Given the description of an element on the screen output the (x, y) to click on. 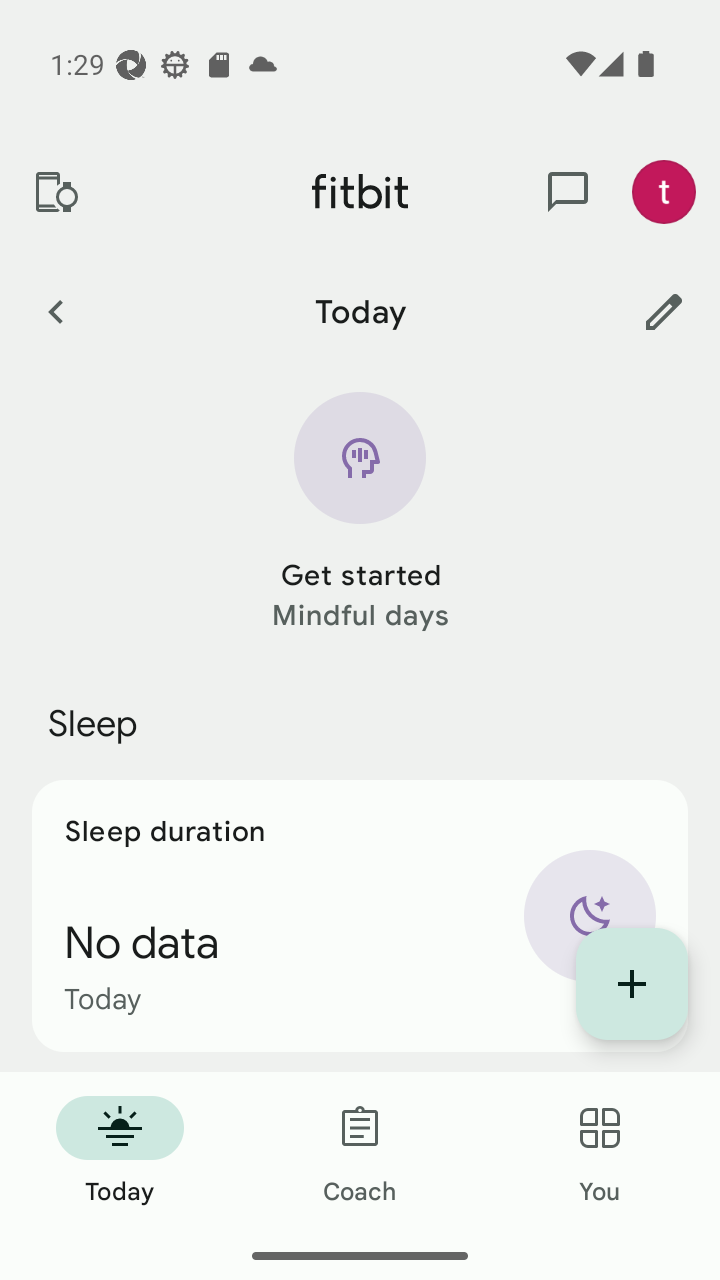
Devices and apps (55, 191)
messages and notifications (567, 191)
Previous Day (55, 311)
Customize (664, 311)
Mindfulness icon Get started Mindful days (360, 513)
Sleep duration No data Today Sleep static arc (359, 915)
Display list of quick log entries (632, 983)
Coach (359, 1151)
You (600, 1151)
